Given the description of an element on the screen output the (x, y) to click on. 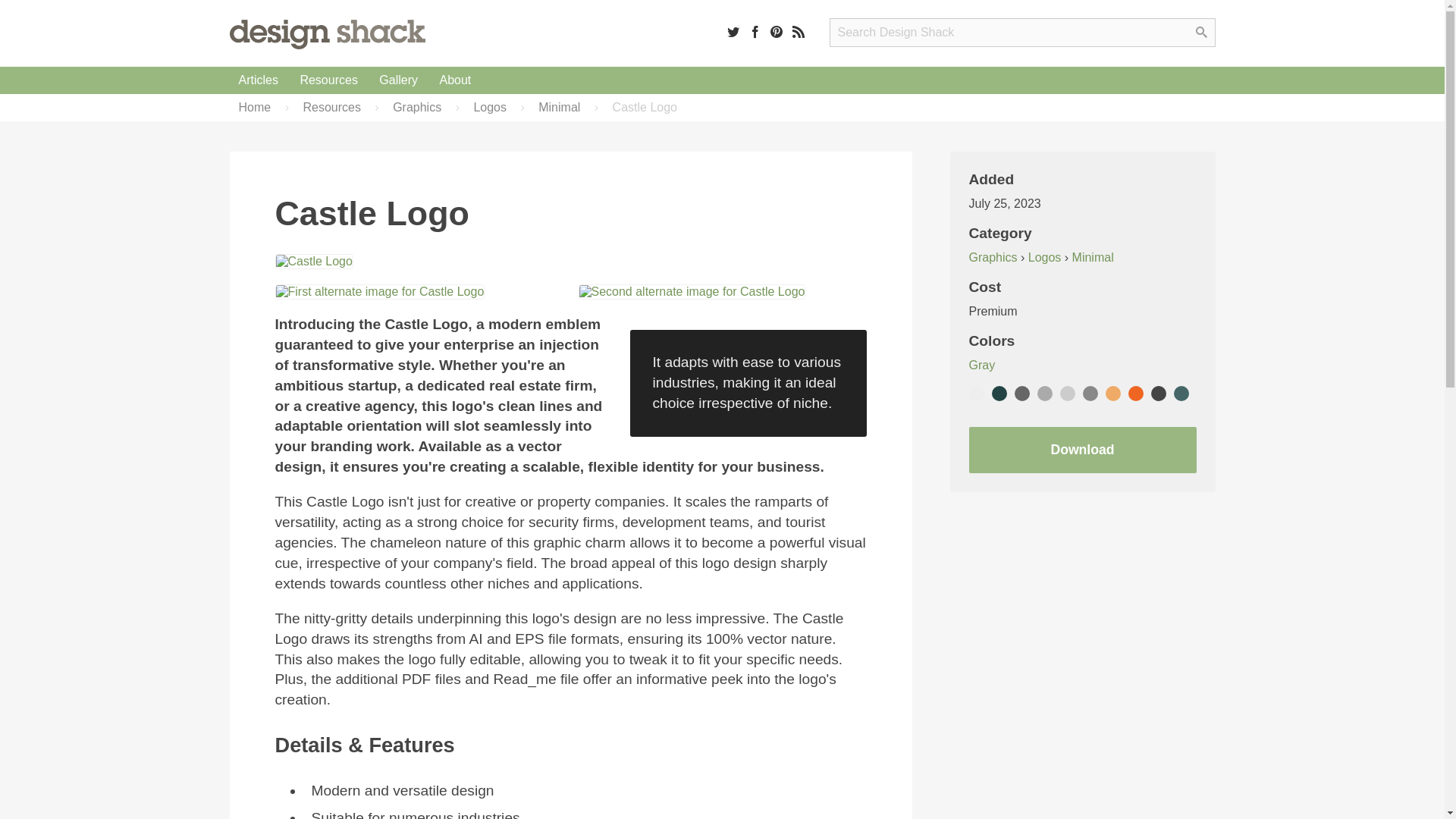
Search Design Shack (1022, 32)
RSS Feed (797, 31)
Pinterest (776, 31)
Facebook (755, 31)
Articles (257, 80)
Design Shack (326, 34)
Search Design Shack (1022, 32)
Articles (257, 80)
